Given the description of an element on the screen output the (x, y) to click on. 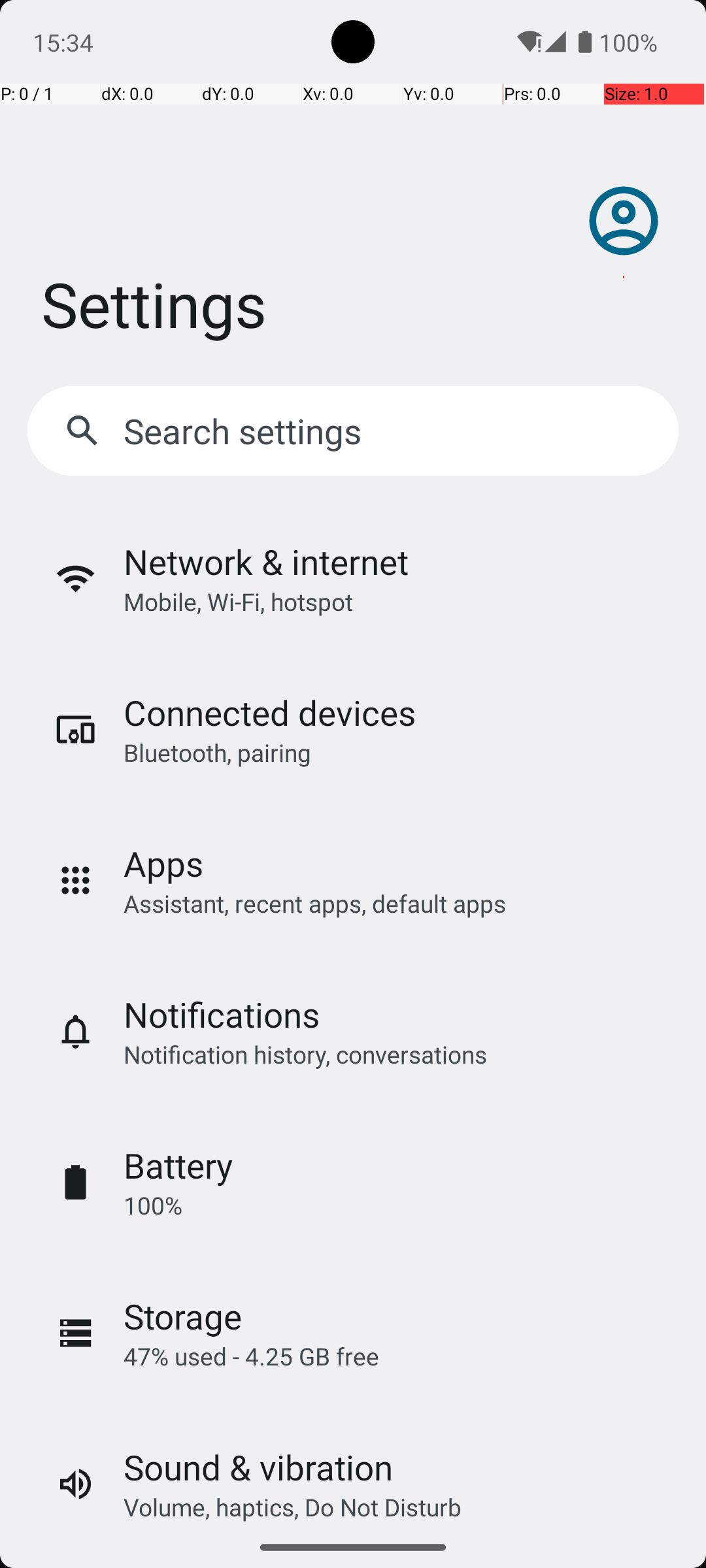
47% used - 4.25 GB free Element type: android.widget.TextView (251, 1355)
